Given the description of an element on the screen output the (x, y) to click on. 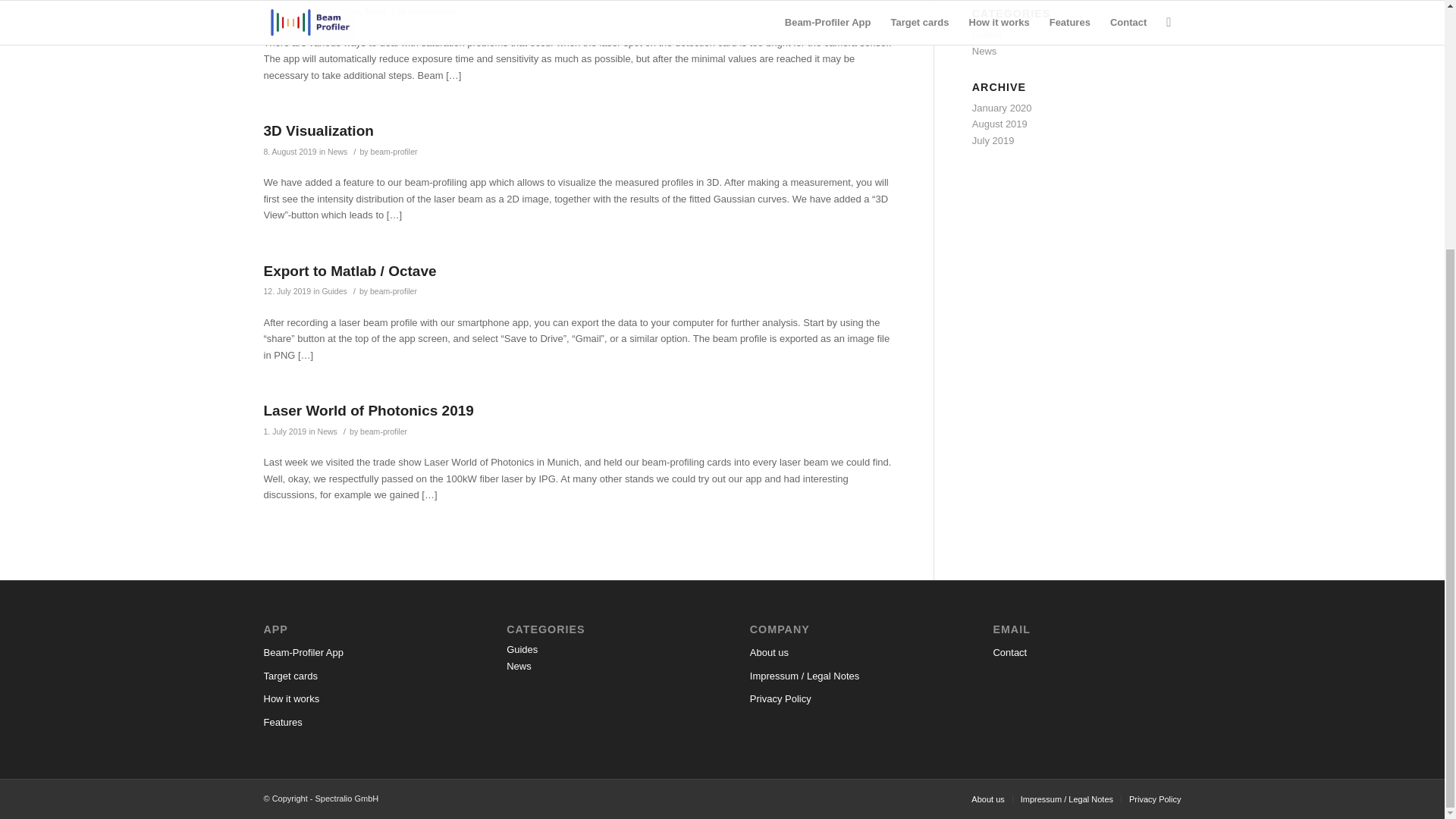
Posts by beam-profiler (383, 430)
Posts by beam-profiler (432, 10)
Guides (348, 10)
News (327, 430)
January 2020 (1002, 107)
beam-profiler (394, 151)
Laser World of Photonics 2019 (368, 410)
Beam-Profiler App (357, 652)
Posts by beam-profiler (394, 151)
Permanent Link: Laser World of Photonics 2019 (368, 410)
beam-profiler (383, 430)
July 2019 (993, 140)
How it works (357, 698)
3D Visualization (318, 130)
News (337, 151)
